Given the description of an element on the screen output the (x, y) to click on. 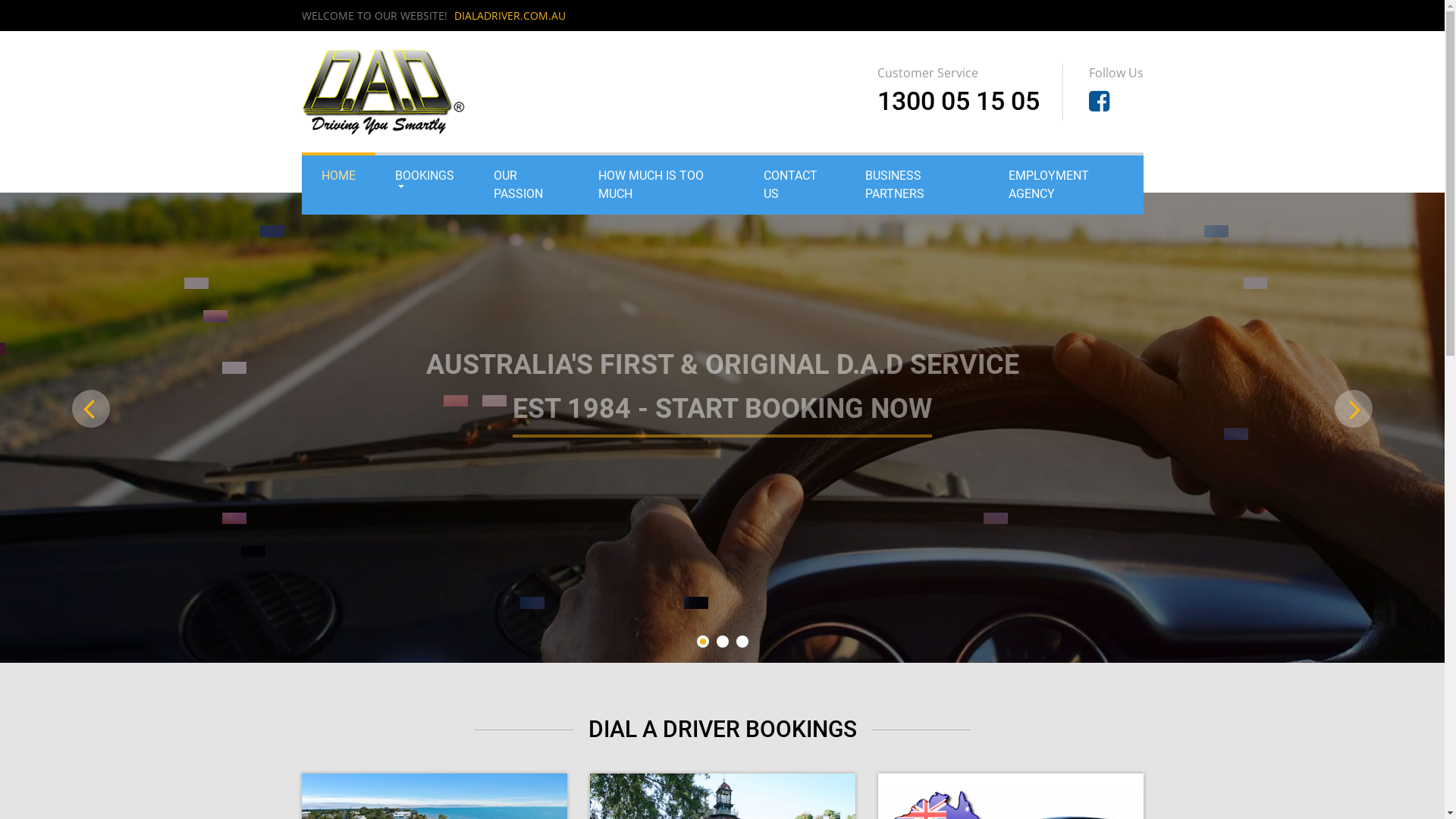
CONTACT US Element type: text (794, 184)
OUR PASSION Element type: text (525, 184)
Dial A Driver Element type: hover (384, 90)
BUSINESS PARTNERS Element type: text (916, 184)
HOME Element type: text (338, 175)
BOOKINGS Element type: text (423, 177)
EMPLOYMENT AGENCY Element type: text (1065, 184)
HOW MUCH IS TOO MUCH Element type: text (660, 184)
